Given the description of an element on the screen output the (x, y) to click on. 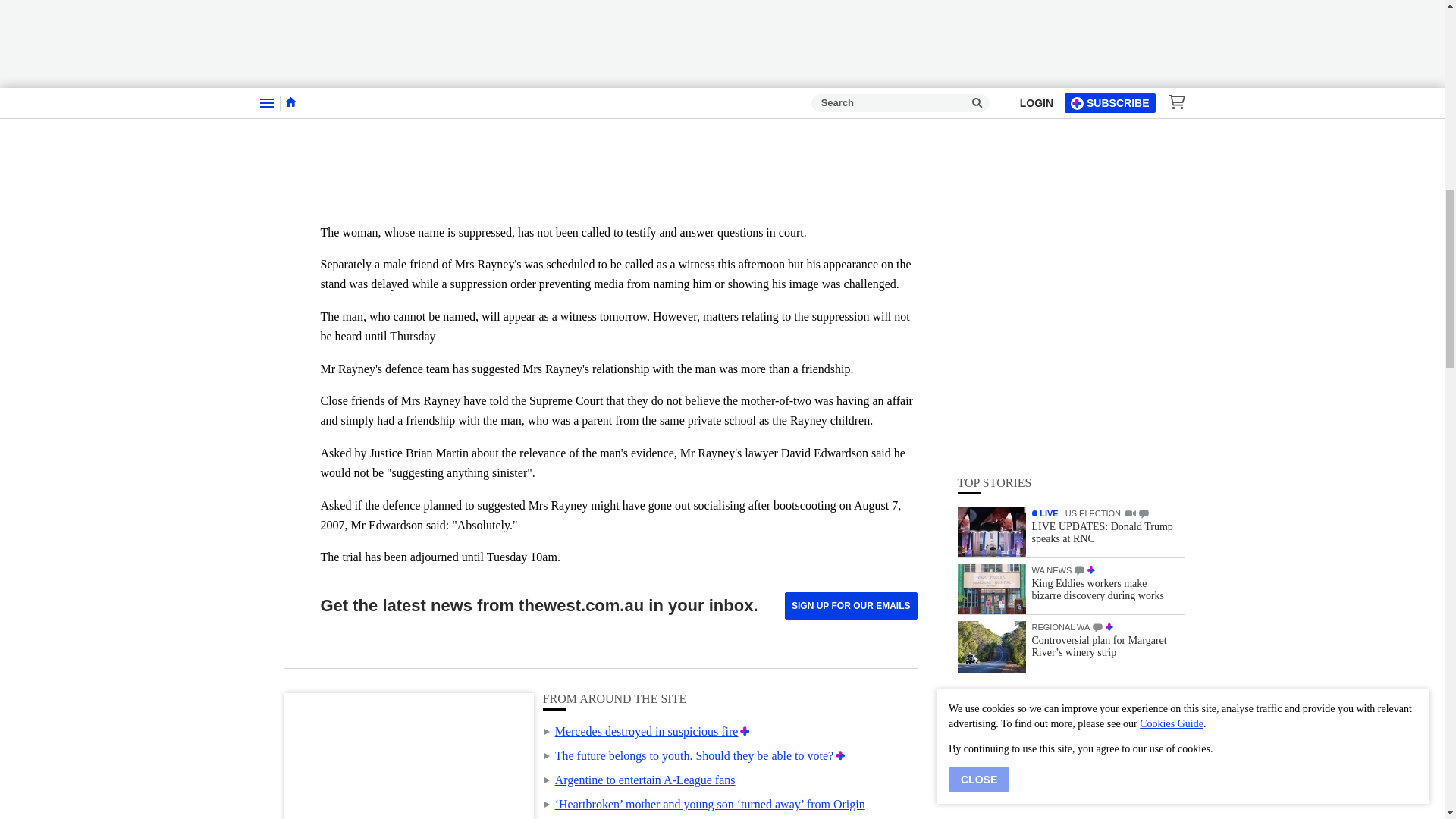
COMMENTS (1143, 112)
PREMIUM (1109, 225)
Premium (840, 755)
COMMENTS (1097, 225)
PREMIUM (1091, 168)
COMMENTS (1079, 169)
VIDEO (1130, 111)
Premium (744, 730)
